Given the description of an element on the screen output the (x, y) to click on. 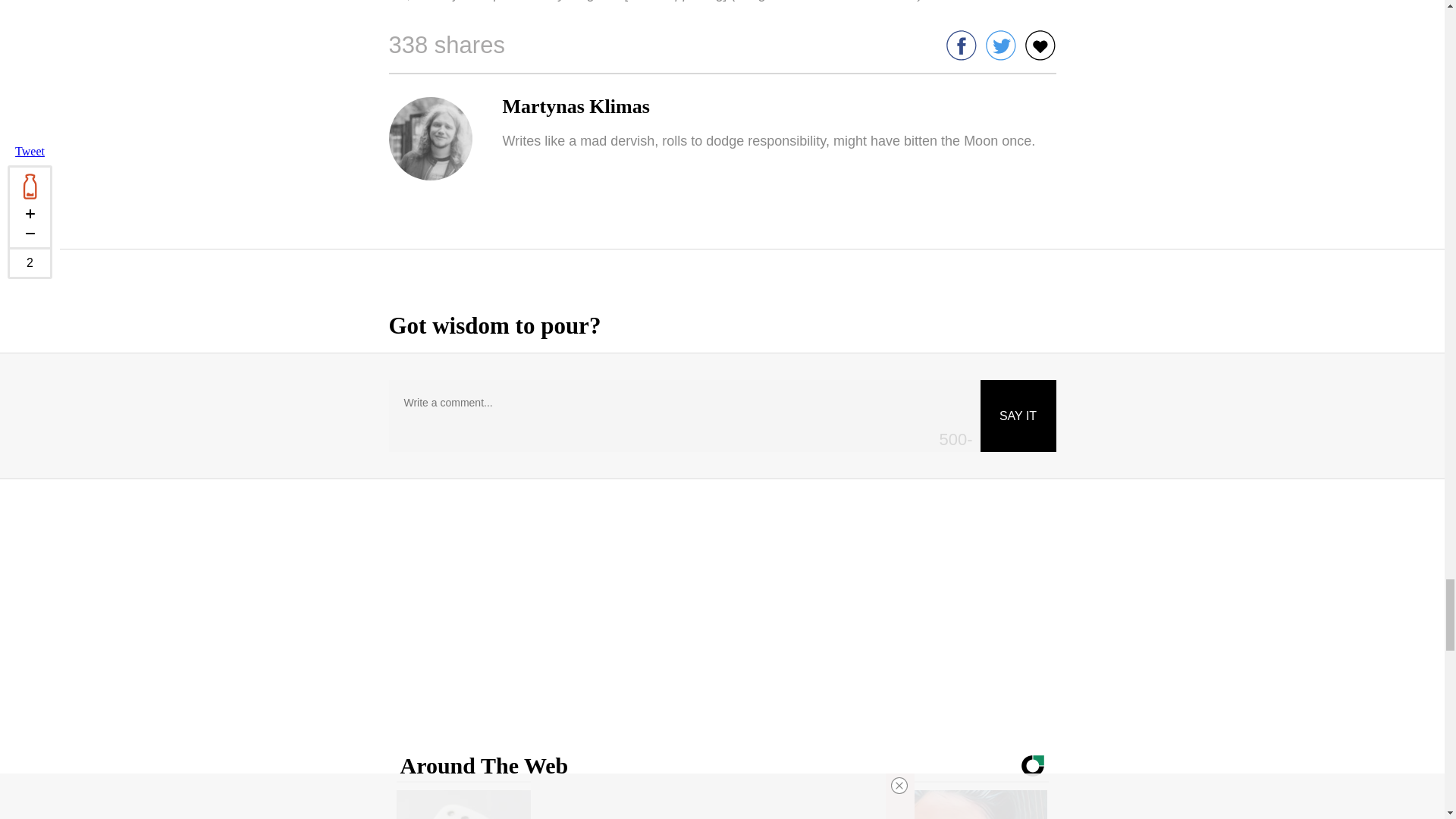
SAY IT (1017, 416)
